Given the description of an element on the screen output the (x, y) to click on. 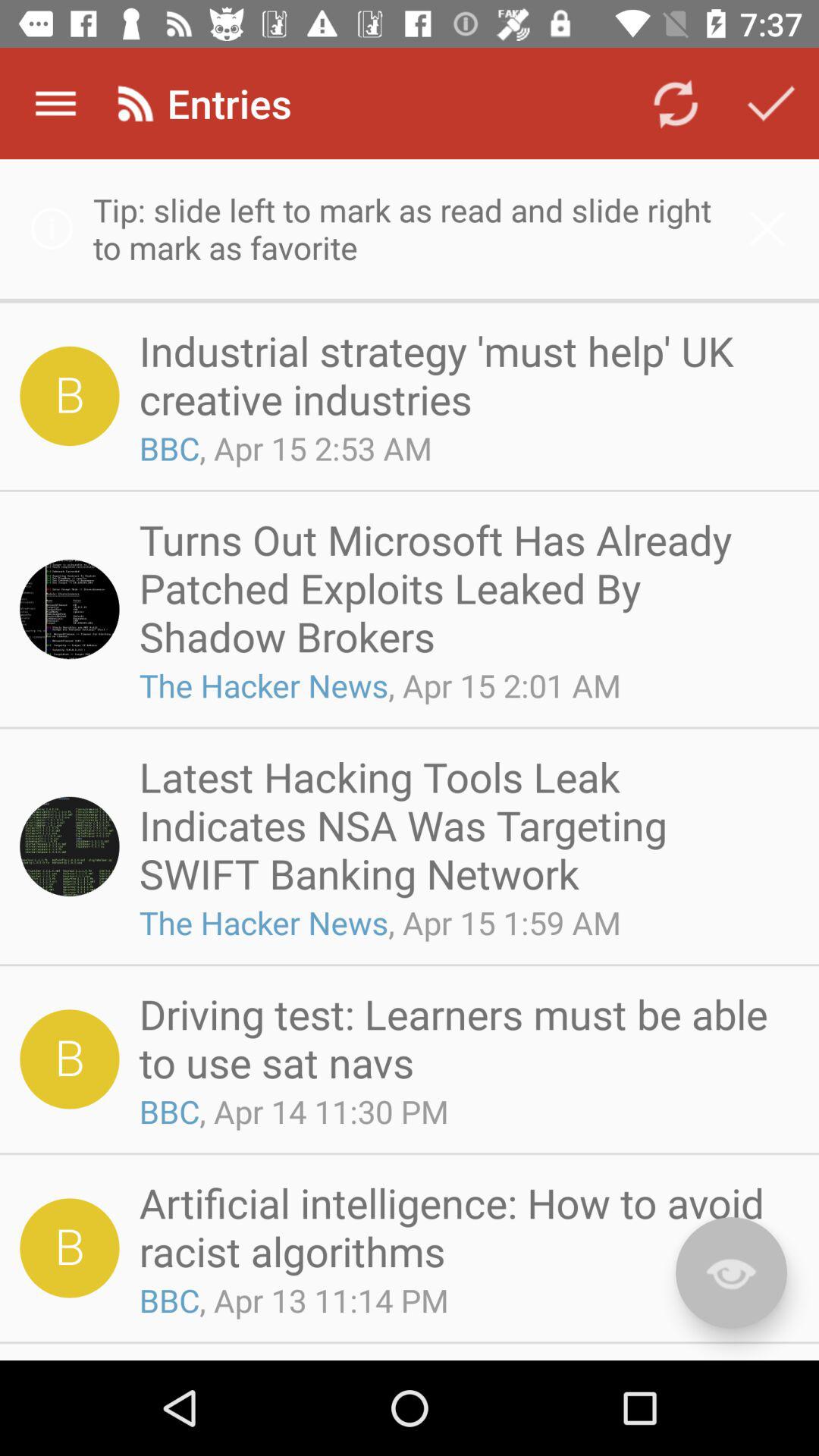
open the tip slide left icon (409, 228)
